Given the description of an element on the screen output the (x, y) to click on. 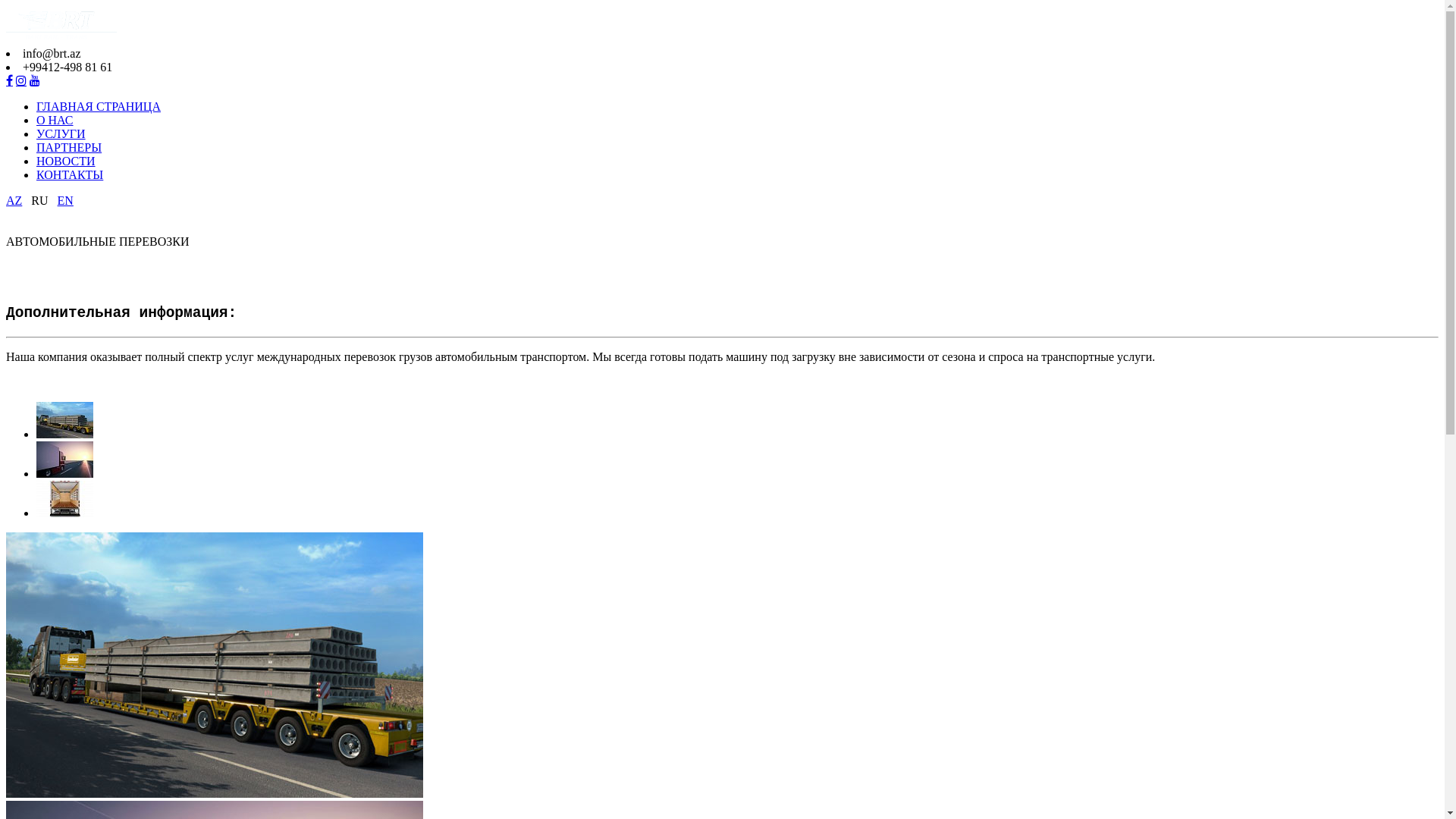
EN Element type: text (65, 200)
AZ Element type: text (13, 200)
BRT Element type: hover (78, 24)
